Given the description of an element on the screen output the (x, y) to click on. 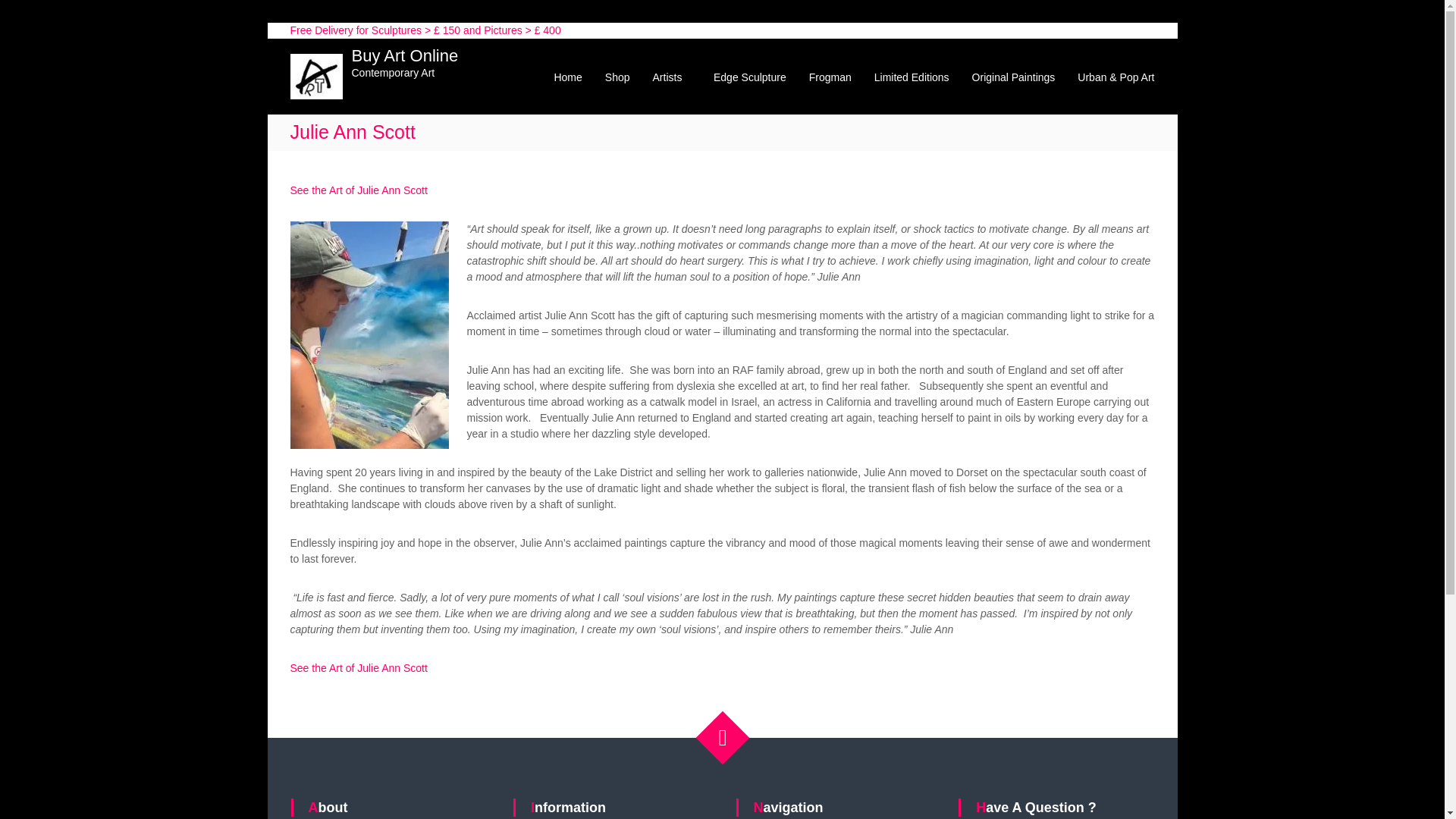
Buy Art Online (405, 55)
Artists (667, 77)
Edge Sculpture (749, 77)
Frogman (830, 77)
Home (566, 77)
See the Art of Julie Ann Scott (357, 666)
See the Art of Julie Ann Scott (357, 189)
Shop (617, 77)
